Given the description of an element on the screen output the (x, y) to click on. 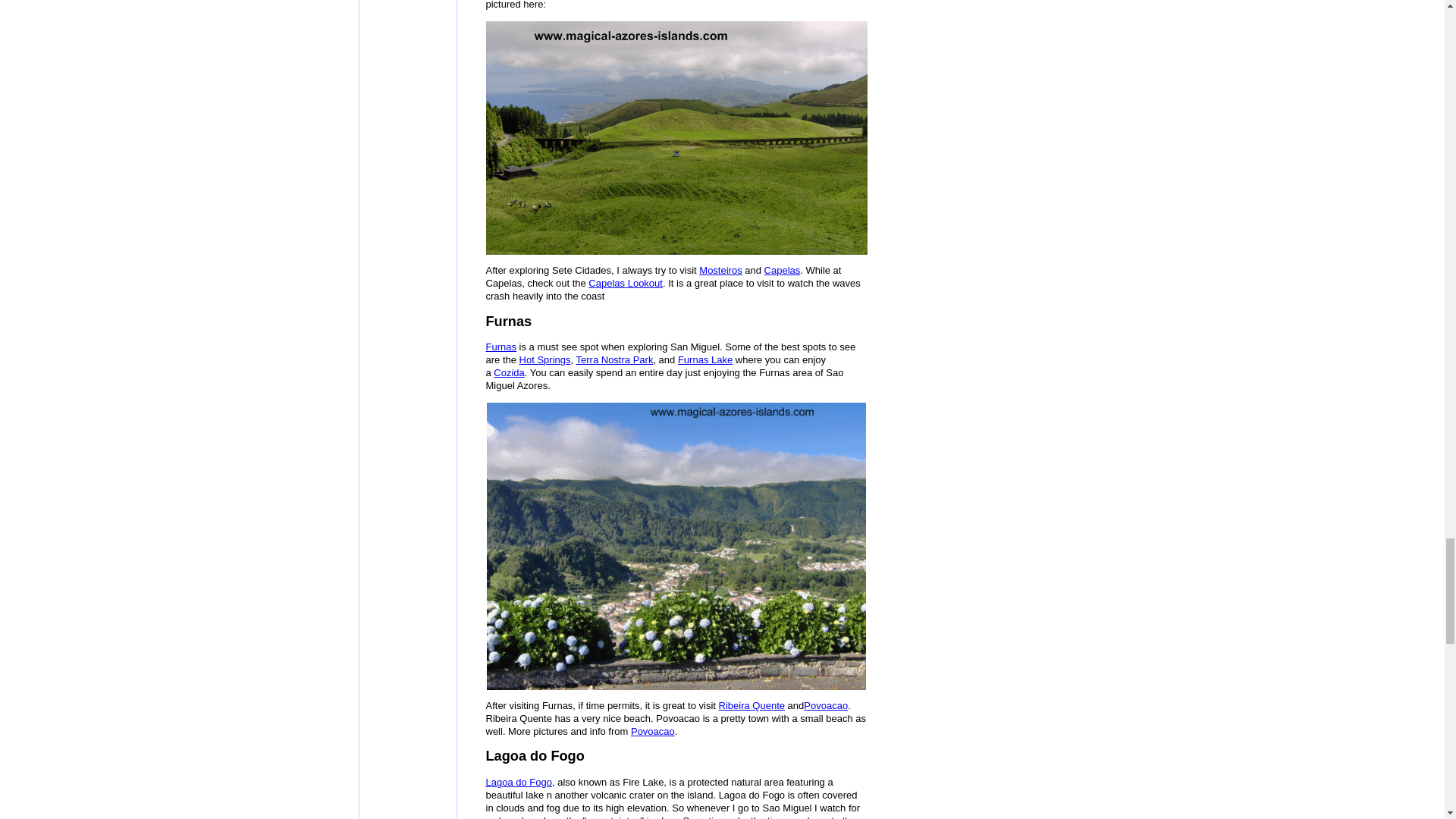
Capelas Lookout (625, 283)
Furnas (499, 346)
Furnas Lake (705, 359)
Povoacao (825, 705)
Terra Nostra Park (614, 359)
Ribeira Quente (751, 705)
Mosteiros (719, 270)
Hot Springs (544, 359)
Capelas (782, 270)
Cozida (508, 372)
Lagoa do Fogo (517, 781)
Povoacao (652, 730)
